Given the description of an element on the screen output the (x, y) to click on. 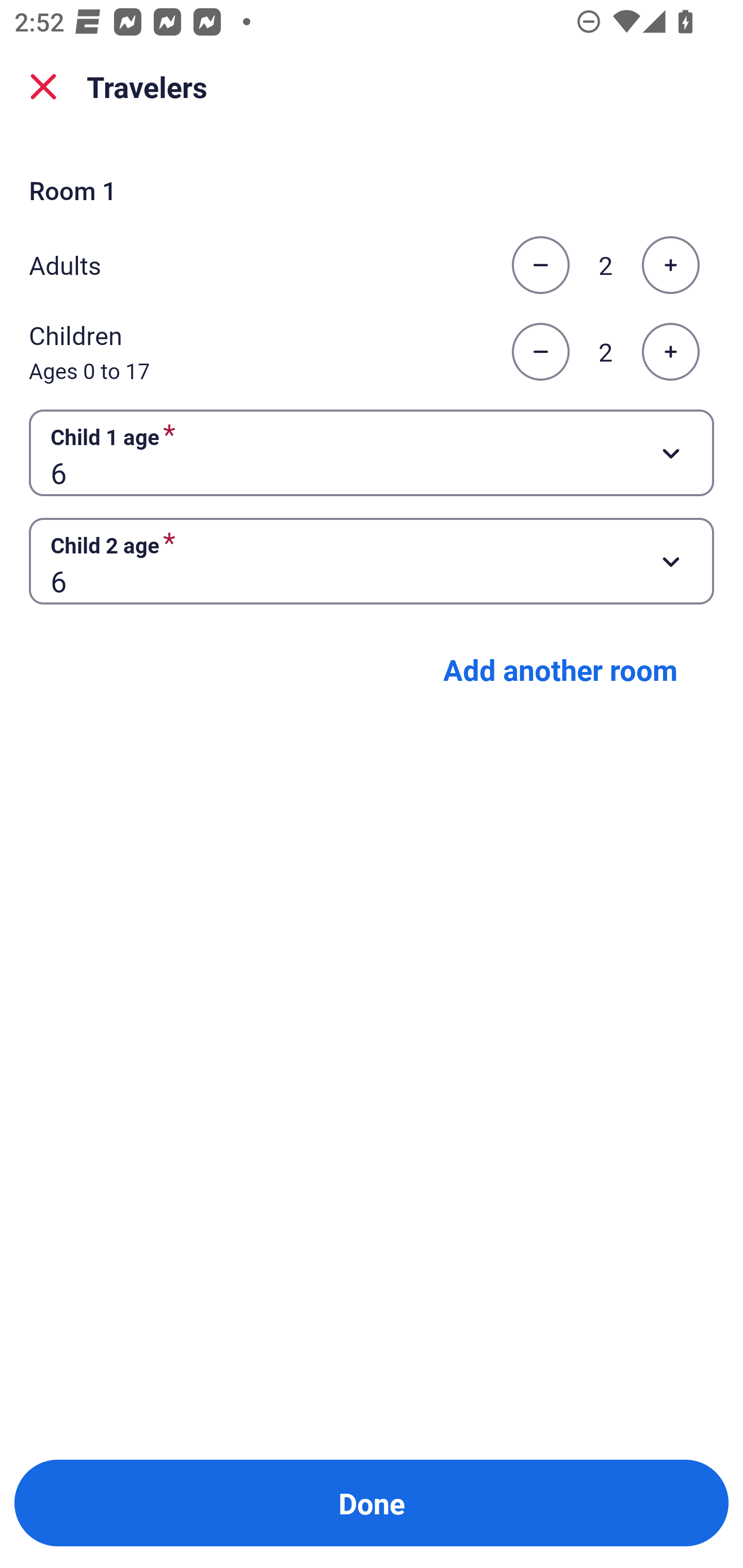
close (43, 86)
Decrease the number of adults (540, 264)
Increase the number of adults (670, 264)
Decrease the number of children (540, 351)
Increase the number of children (670, 351)
Child 1 age required Button 6 (371, 452)
Child 2 age required Button 6 (371, 561)
Add another room (560, 669)
Done (371, 1502)
